Given the description of an element on the screen output the (x, y) to click on. 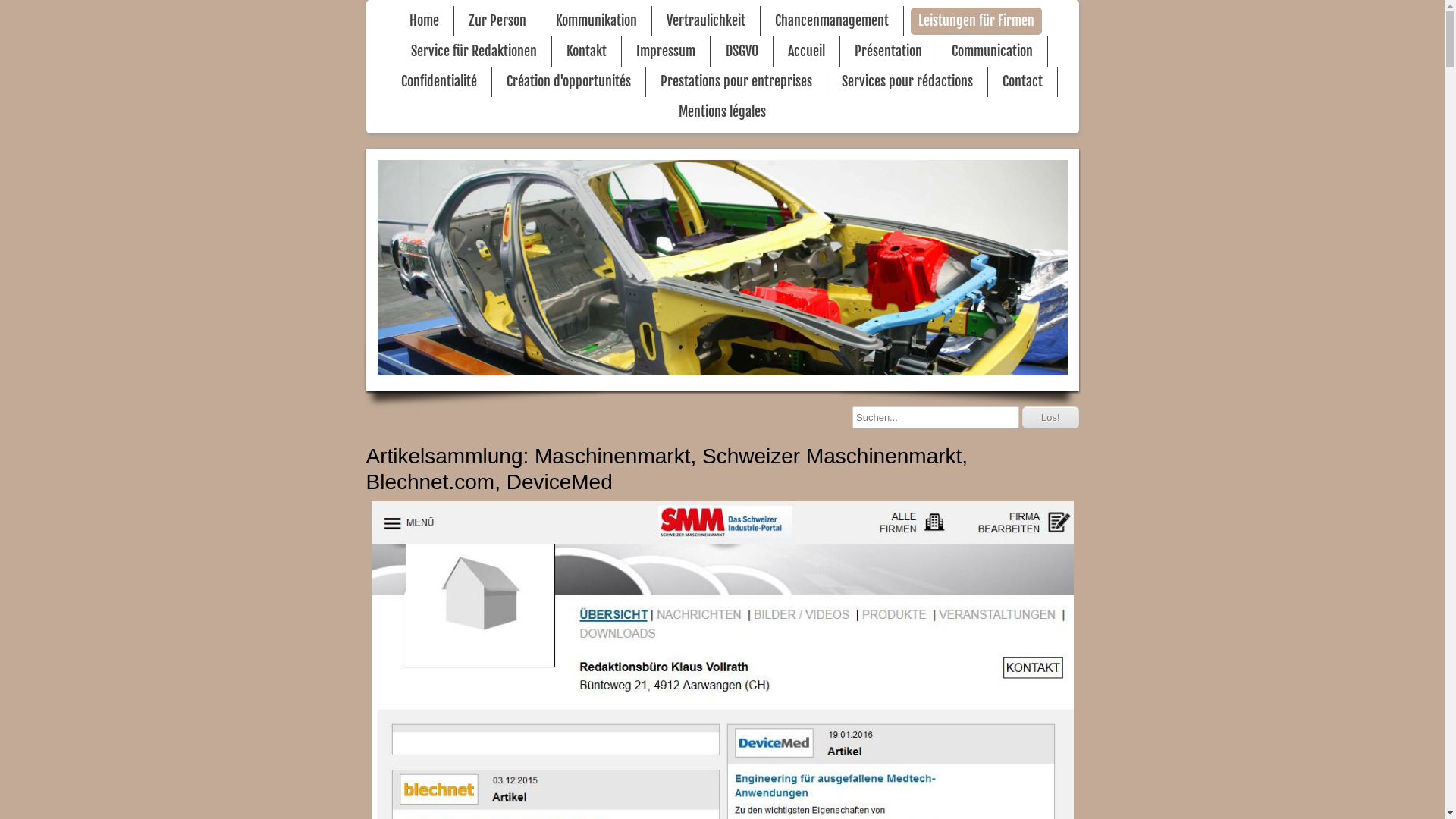
Vertraulichkeit Element type: text (705, 20)
Communication Element type: text (992, 51)
DSGVO Element type: text (741, 51)
Zur Person Element type: text (497, 20)
Los! Element type: text (1050, 417)
Contact Element type: text (1022, 81)
Kommunikation Element type: text (596, 20)
Chancenmanagement Element type: text (831, 20)
Impressum Element type: text (665, 51)
Kontakt Element type: text (586, 51)
Prestations pour entreprises Element type: text (735, 81)
Accueil Element type: text (806, 51)
Home Element type: text (423, 20)
